Given the description of an element on the screen output the (x, y) to click on. 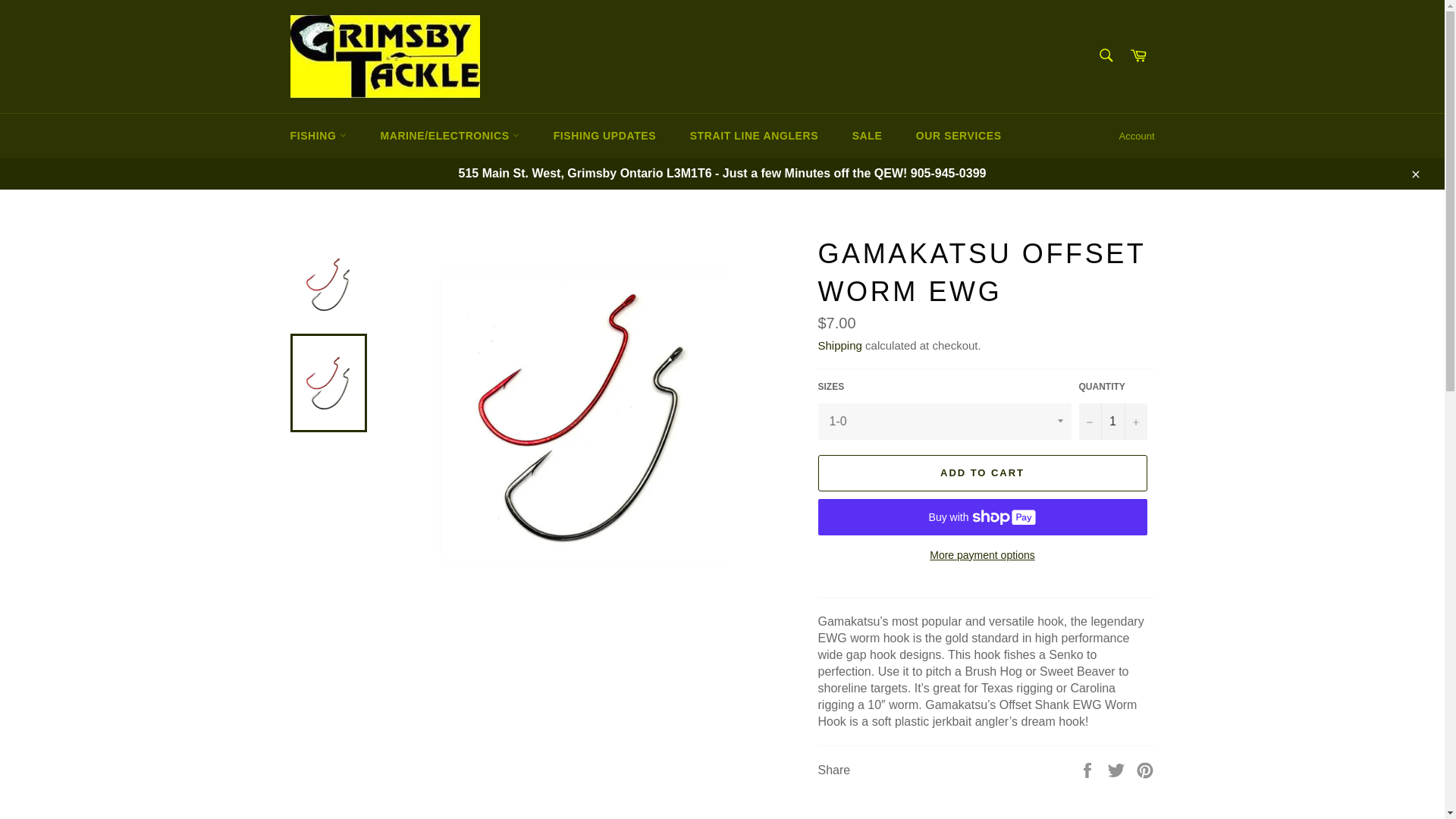
Pin on Pinterest (1144, 768)
Tweet on Twitter (1117, 768)
Share on Facebook (1088, 768)
1 (1112, 421)
